Given the description of an element on the screen output the (x, y) to click on. 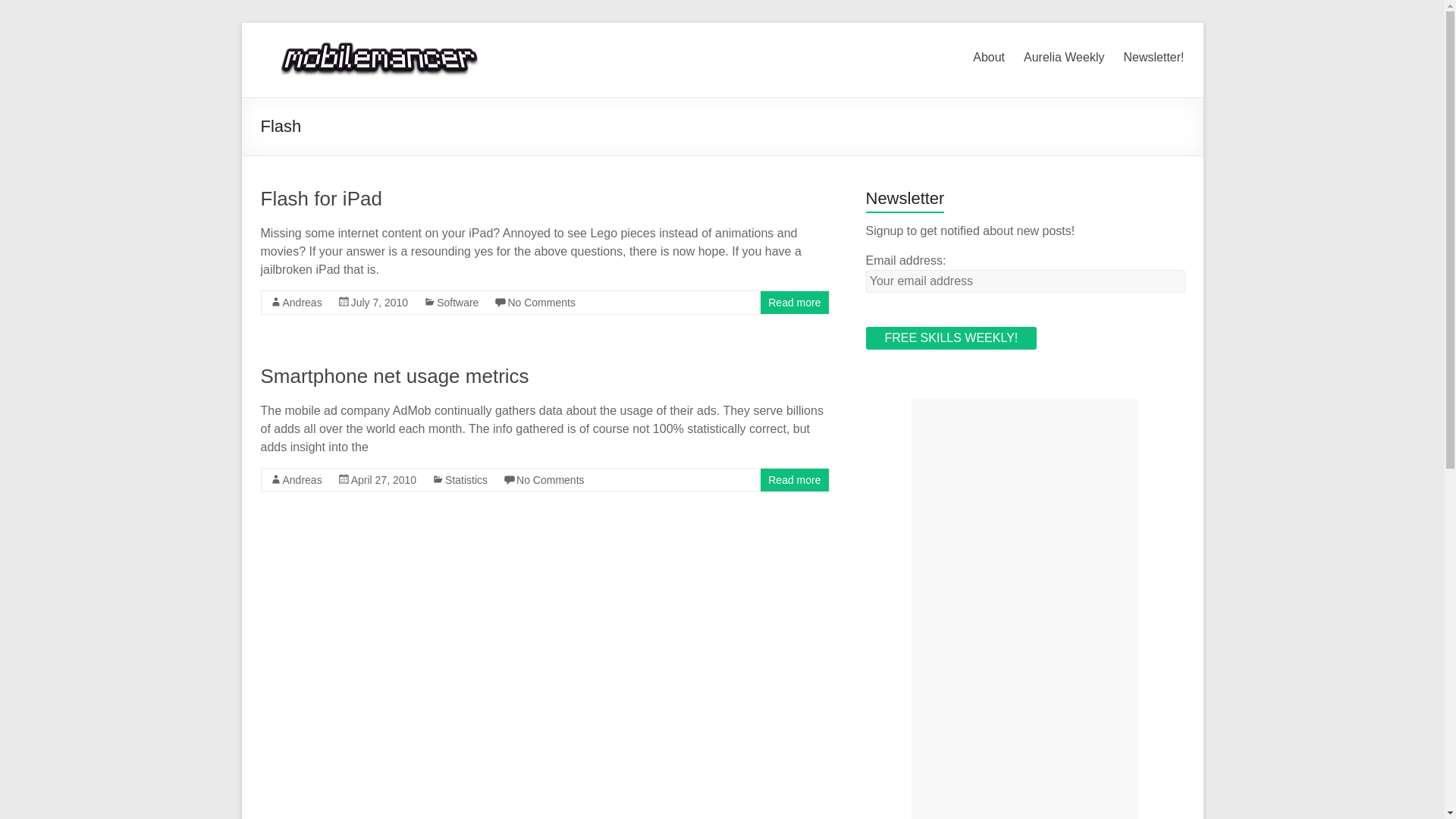
Flash for iPad (320, 198)
Statistics (466, 480)
Software (457, 302)
mobilemancer (383, 41)
Read more (794, 480)
22:43 (379, 302)
Smartphone net usage metrics (394, 375)
July 7, 2010 (379, 302)
Smartphone net usage metrics (394, 375)
Flash for iPad (320, 198)
